Given the description of an element on the screen output the (x, y) to click on. 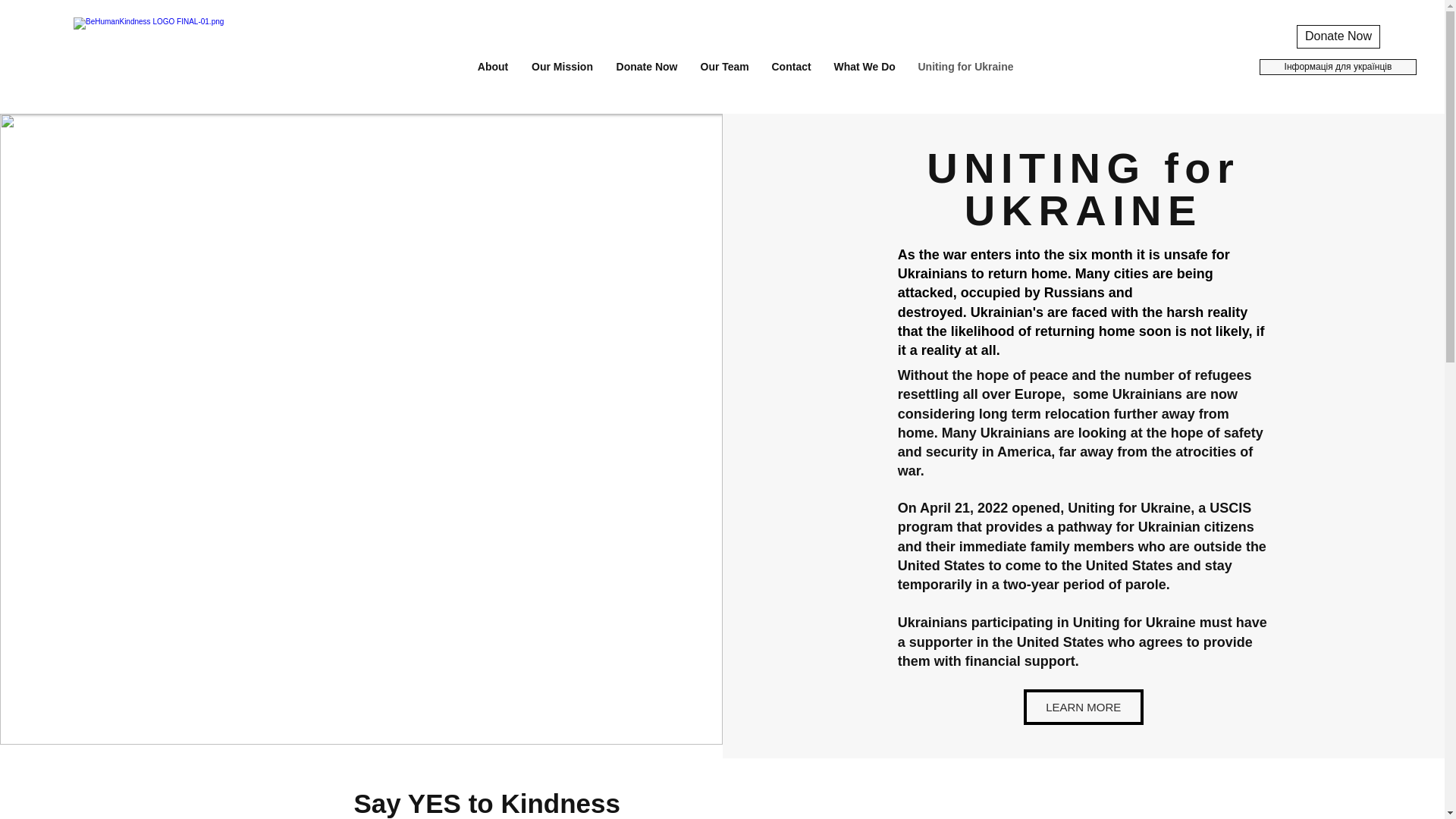
About (492, 67)
Donate Now (1338, 36)
Donate Now (646, 67)
Contact (791, 67)
Our Mission (562, 67)
What We Do (863, 67)
LEARN MORE (1082, 706)
Uniting for Ukraine (966, 67)
Our Team (724, 67)
